Given the description of an element on the screen output the (x, y) to click on. 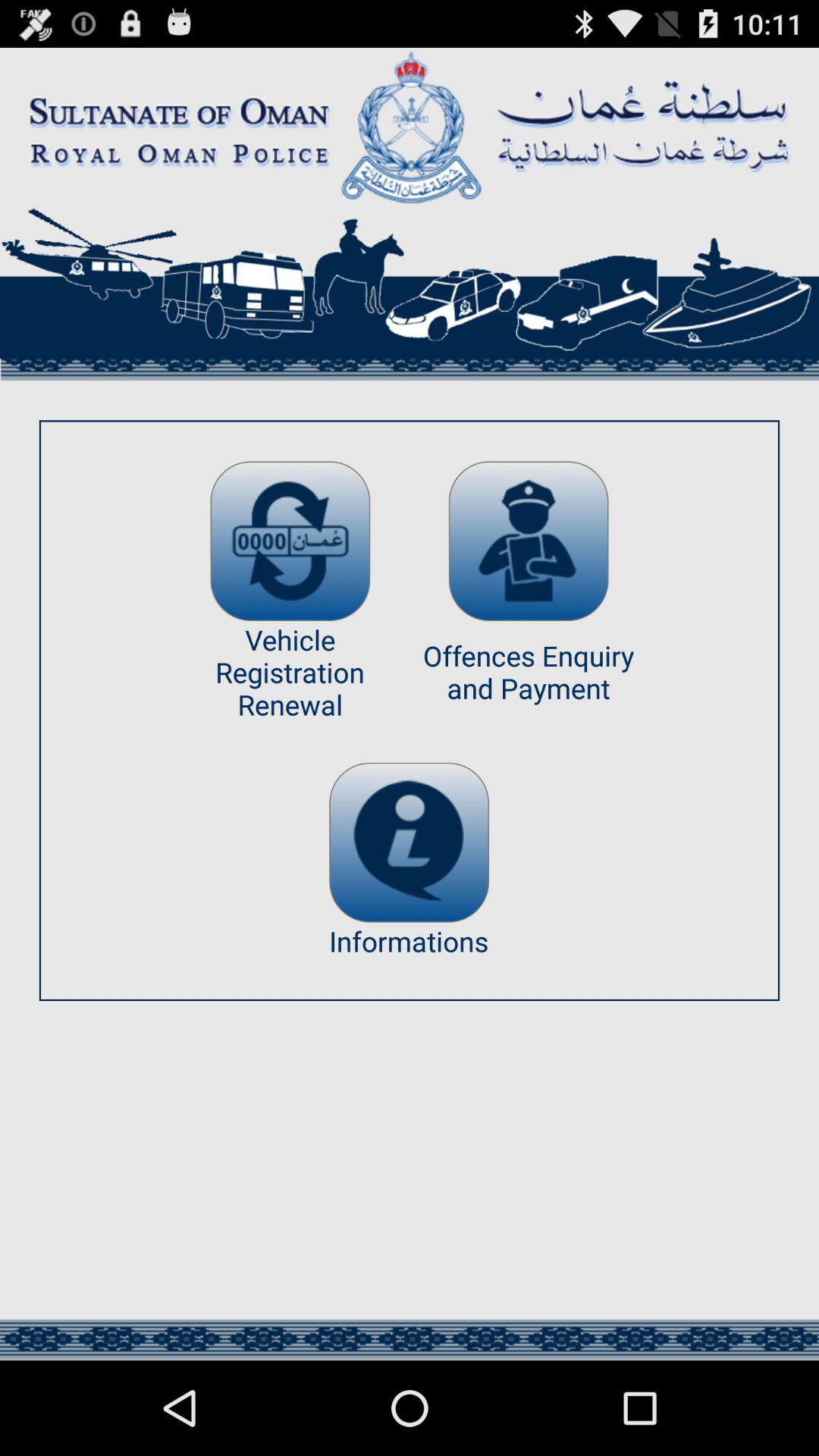
offence enquiry and payment (528, 541)
